Given the description of an element on the screen output the (x, y) to click on. 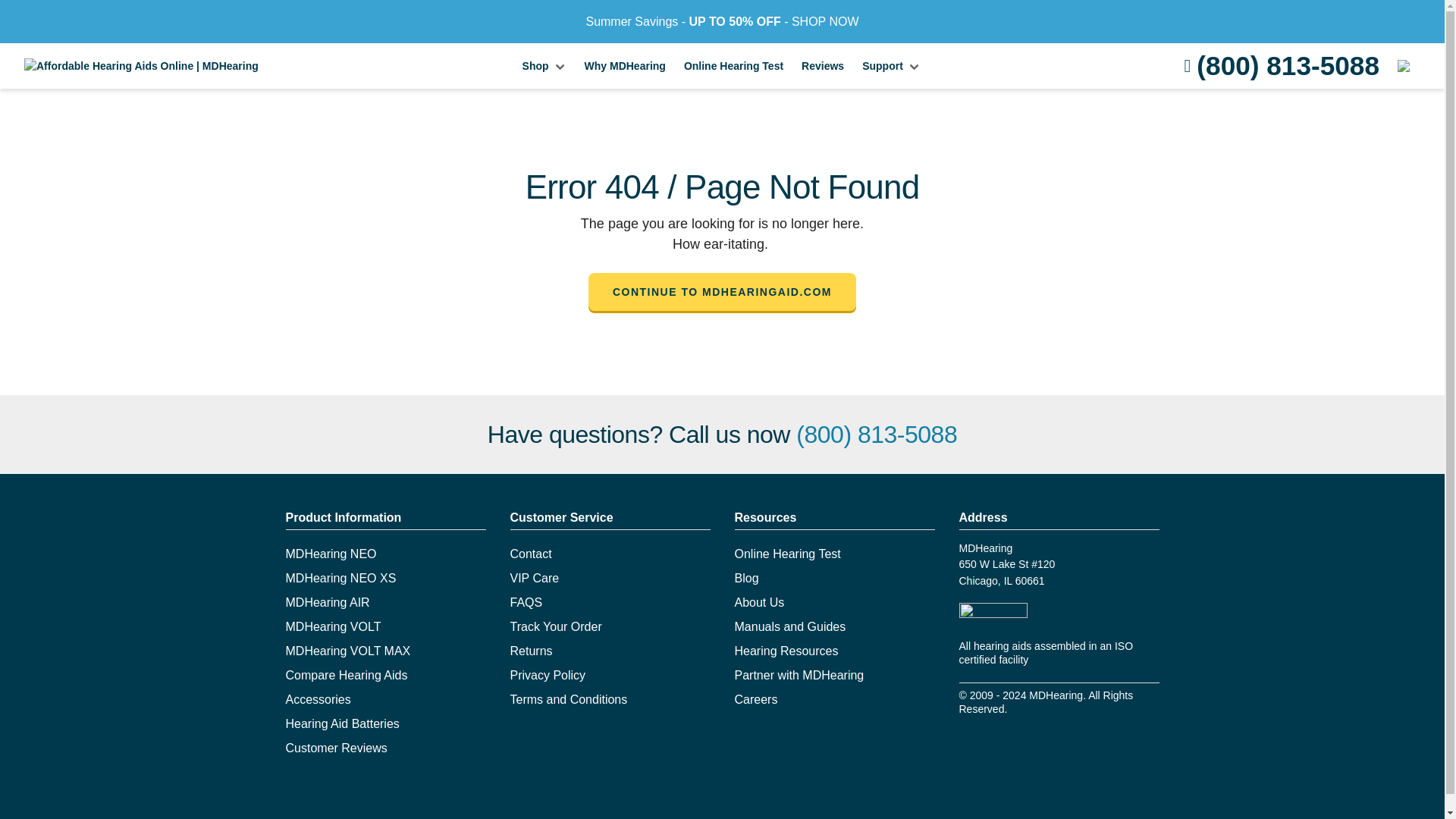
CONTINUE TO MDHEARINGAID.COM (722, 291)
MDHearing NEO (330, 553)
Why MDHearing (625, 65)
MDHearing NEO XS (340, 577)
Online Hearing Test (733, 65)
Track Your Order (555, 626)
Customer Reviews (336, 748)
Reviews (822, 65)
FAQS (525, 602)
Terms and Conditions (568, 698)
Accessories (317, 698)
Returns (530, 650)
Contact (530, 553)
MDHearing VOLT (332, 626)
MDHearing VOLT MAX (347, 650)
